Given the description of an element on the screen output the (x, y) to click on. 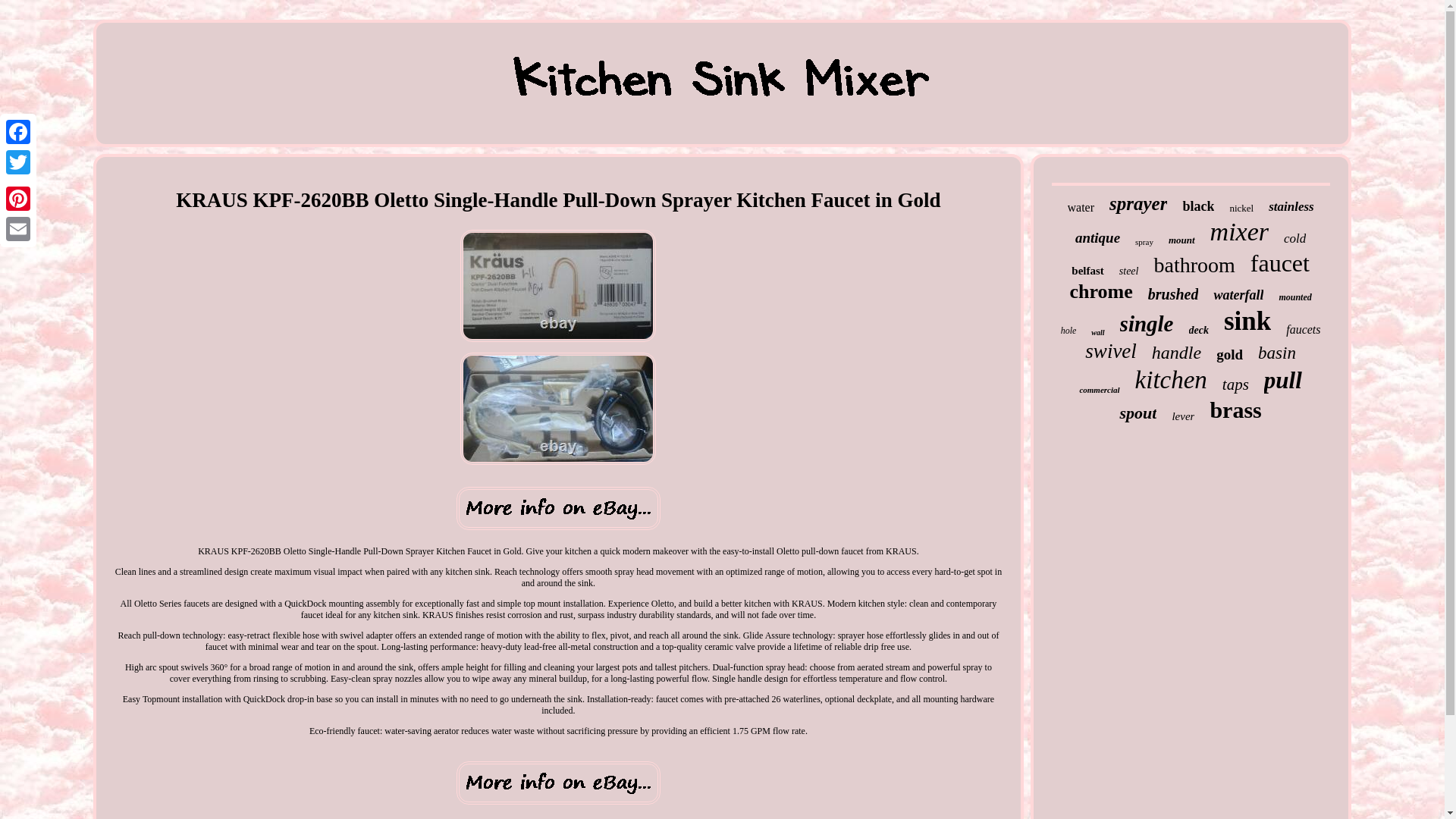
waterfall (1237, 295)
spray (1144, 241)
wall (1096, 332)
antique (1097, 238)
steel (1128, 271)
belfast (1087, 270)
faucet (1279, 263)
sink (1247, 321)
